Given the description of an element on the screen output the (x, y) to click on. 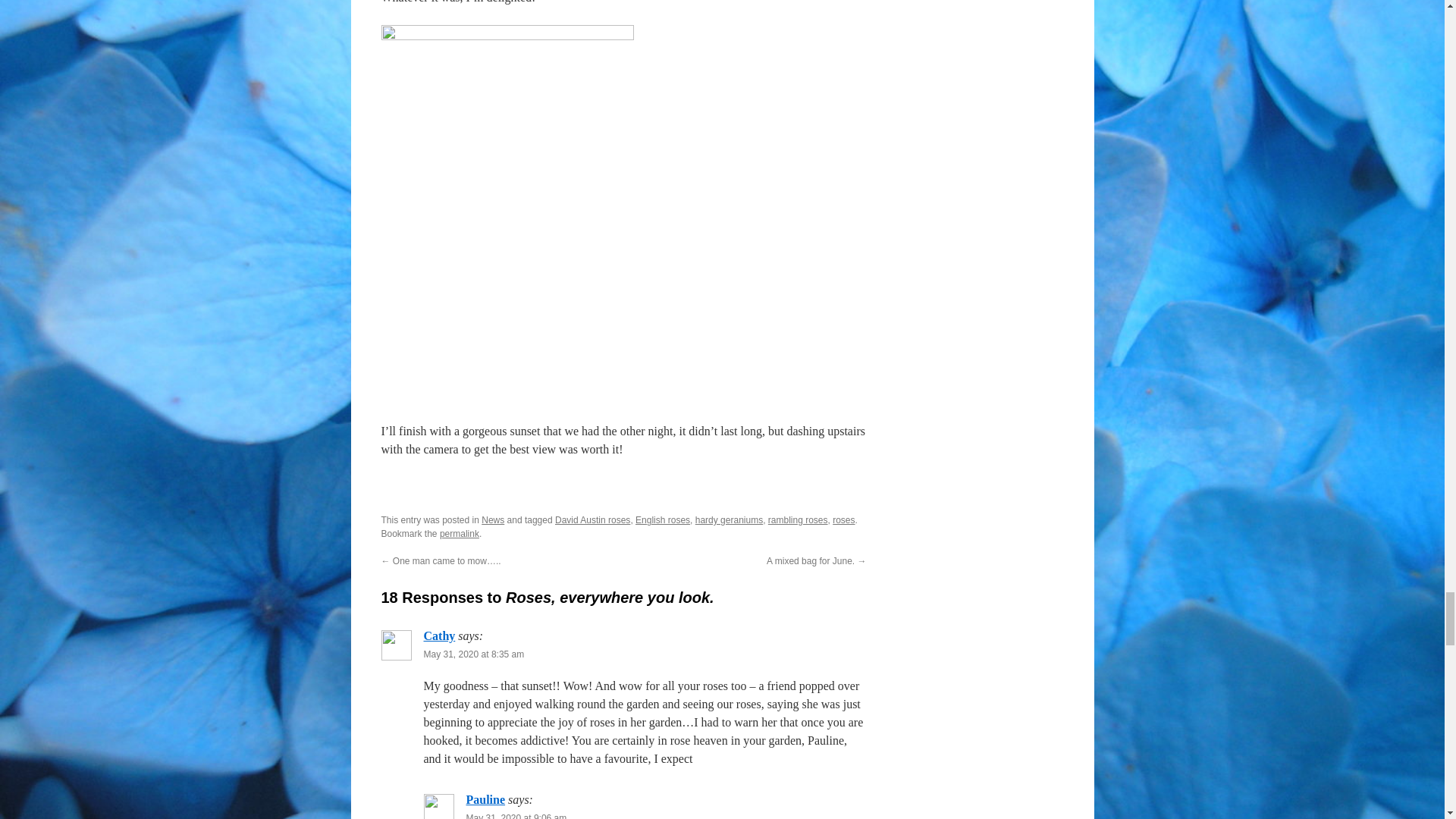
Permalink to Roses, everywhere you look. (459, 533)
